Given the description of an element on the screen output the (x, y) to click on. 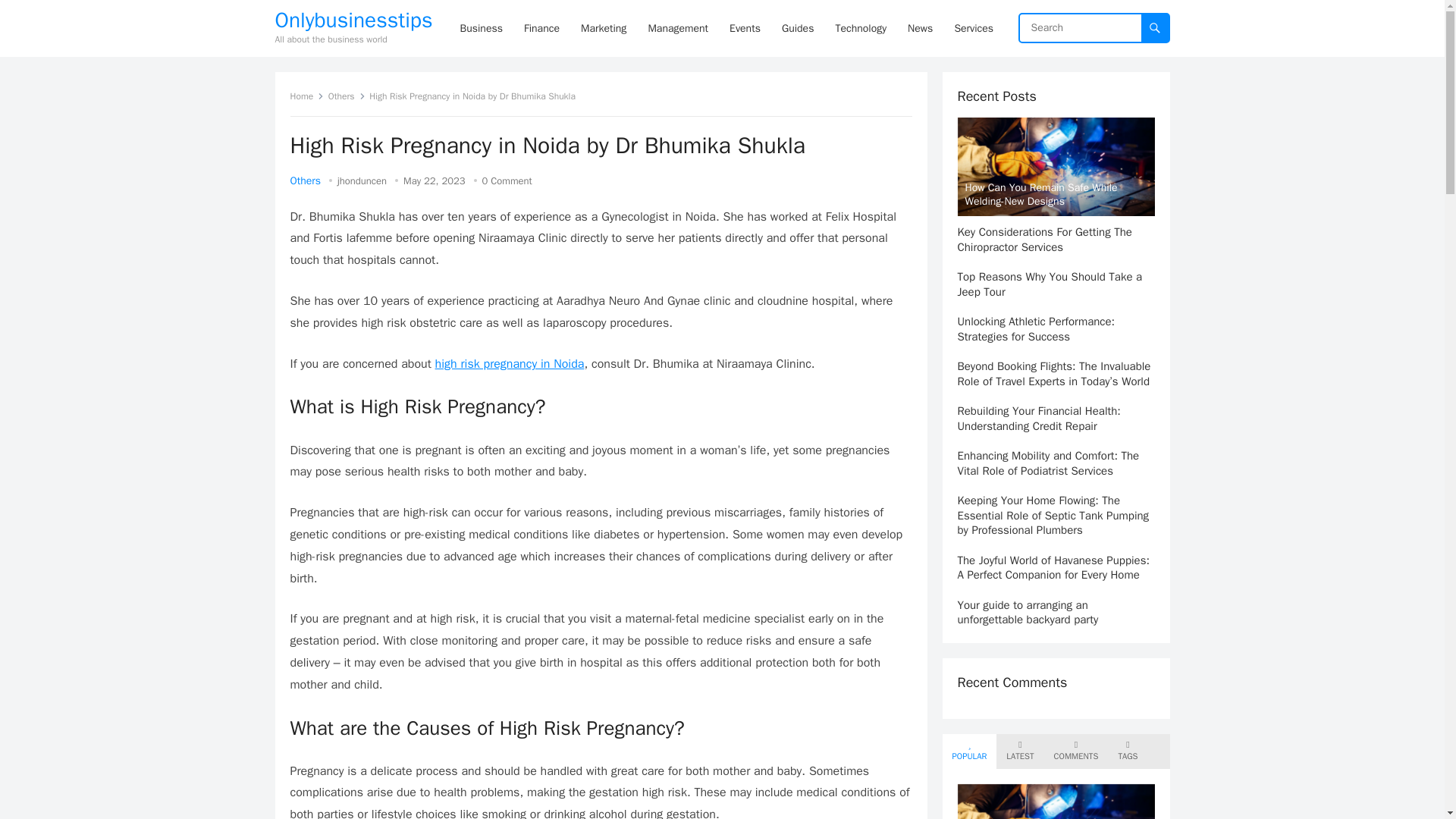
Management (678, 28)
Business (481, 28)
Technology (860, 28)
Home (306, 96)
high risk pregnancy in Noida (510, 363)
Latest (1019, 751)
Guides (798, 28)
0 Comment (506, 180)
Popular (969, 751)
jhonduncen (362, 180)
